Given the description of an element on the screen output the (x, y) to click on. 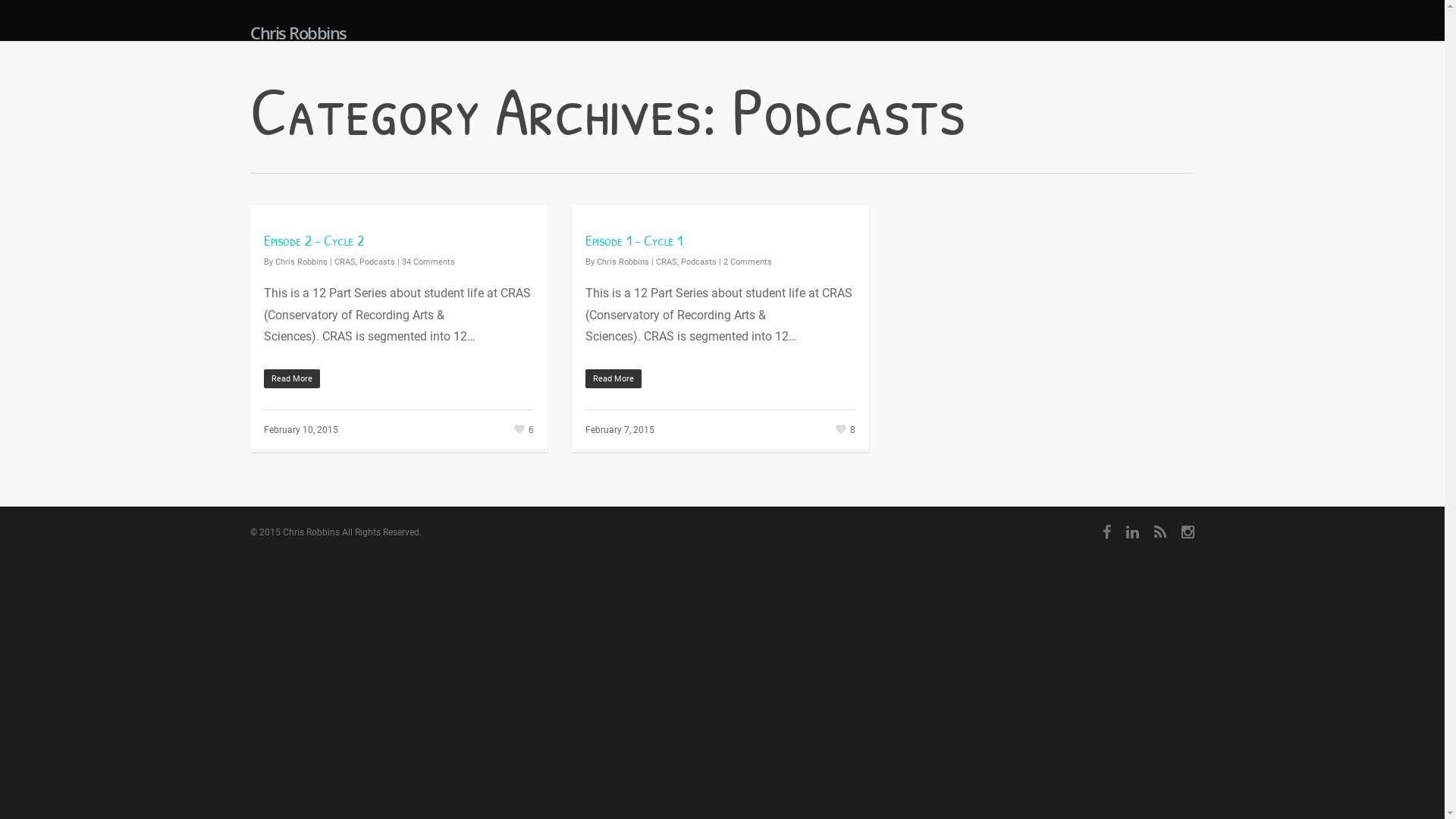
CRAS Element type: text (666, 261)
Chris Robbins Element type: text (301, 261)
Read More Element type: text (398, 378)
Podcasts Element type: text (377, 261)
Chris Robbins Element type: text (298, 32)
Read More Element type: text (720, 378)
Podcasts Element type: text (698, 261)
6 Element type: text (522, 427)
CRAS Element type: text (344, 261)
34 Comments Element type: text (428, 261)
2 Comments Element type: text (747, 261)
Chris Robbins Element type: text (622, 261)
8 Element type: text (843, 427)
